Given the description of an element on the screen output the (x, y) to click on. 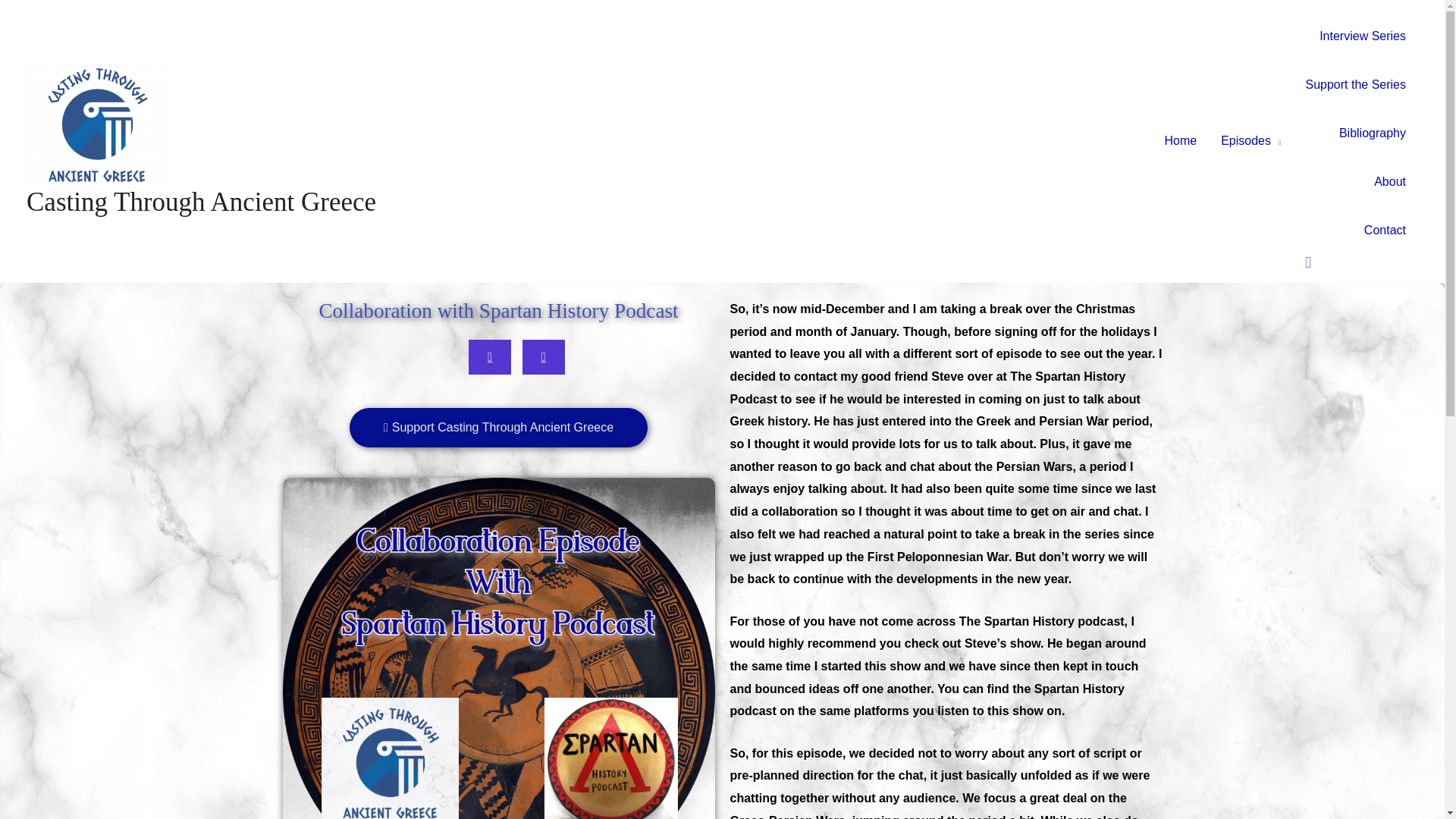
Support Casting Through Ancient Greece (498, 427)
Support the Series (1355, 84)
Home (1179, 141)
Contact (1385, 230)
About (1389, 182)
Search (1355, 262)
Interview Series (1362, 36)
Bibliography (1372, 133)
Casting Through Ancient Greece (200, 202)
Episodes (1250, 141)
